Given the description of an element on the screen output the (x, y) to click on. 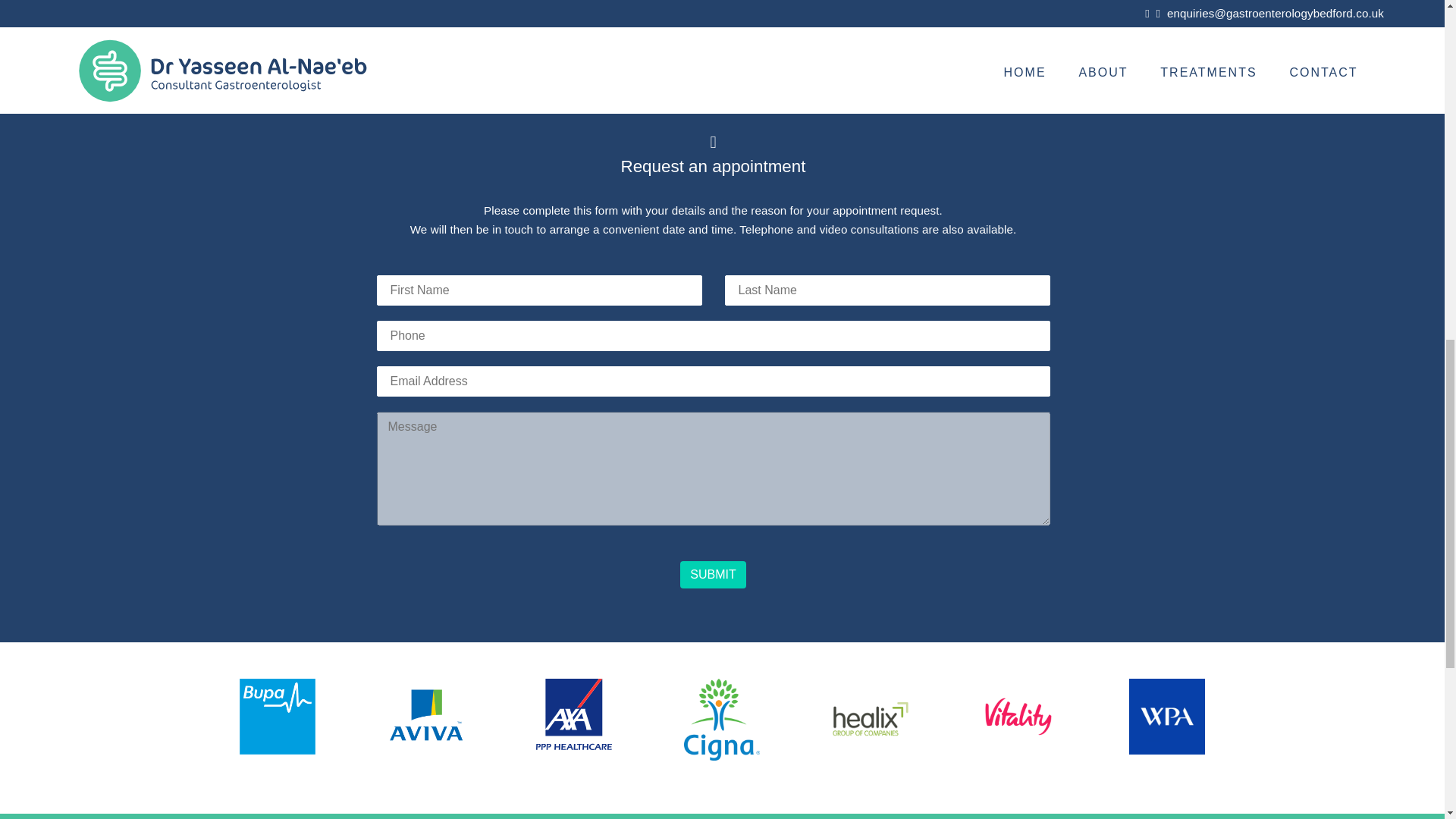
SUBMIT (712, 574)
